Given the description of an element on the screen output the (x, y) to click on. 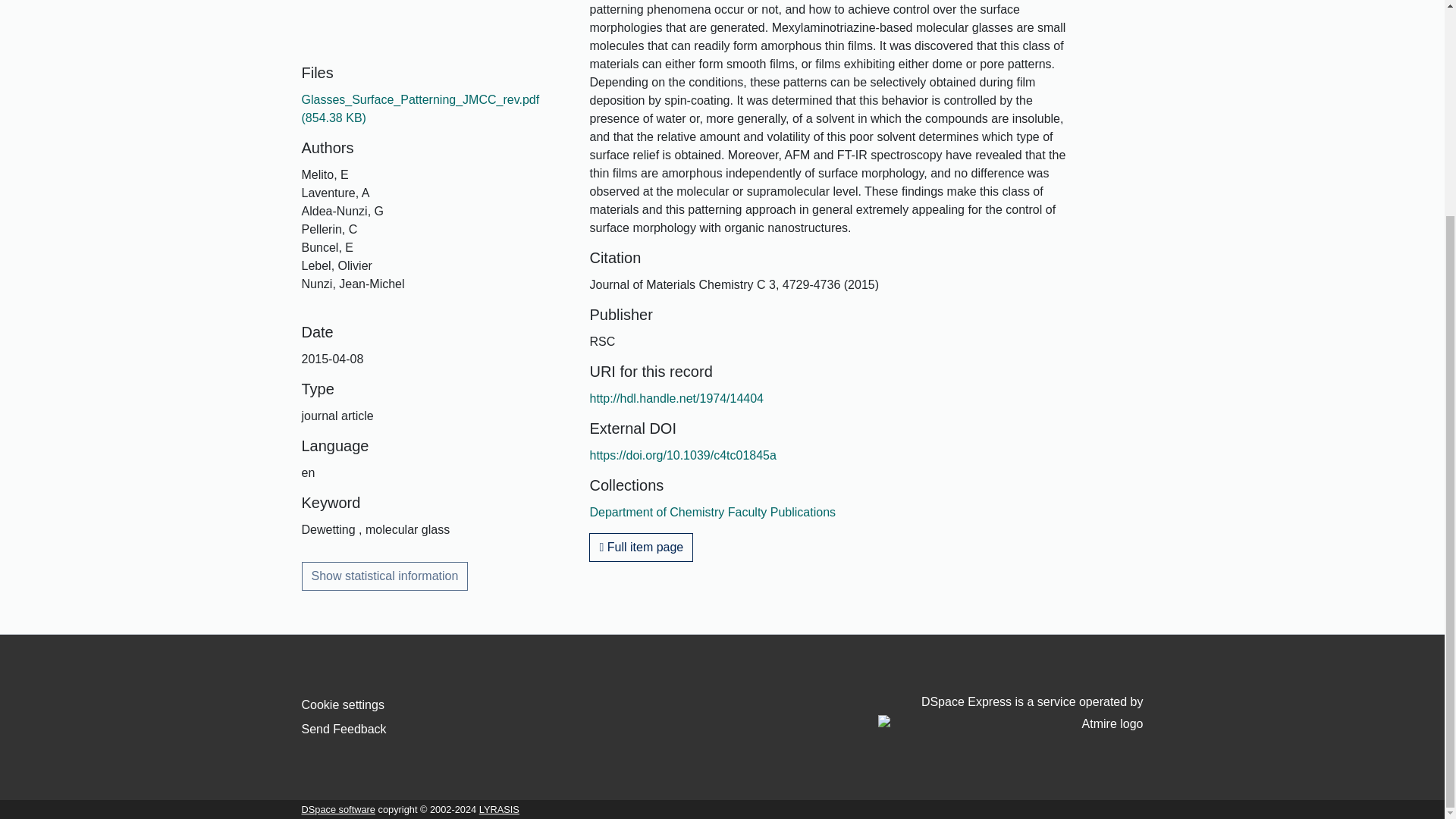
Show statistical information (384, 575)
Send Feedback (344, 728)
DSpace software (338, 808)
LYRASIS (499, 808)
DSpace Express is a service operated by (1009, 714)
Department of Chemistry Faculty Publications (712, 512)
Cookie settings (342, 704)
Full item page (641, 547)
